Given the description of an element on the screen output the (x, y) to click on. 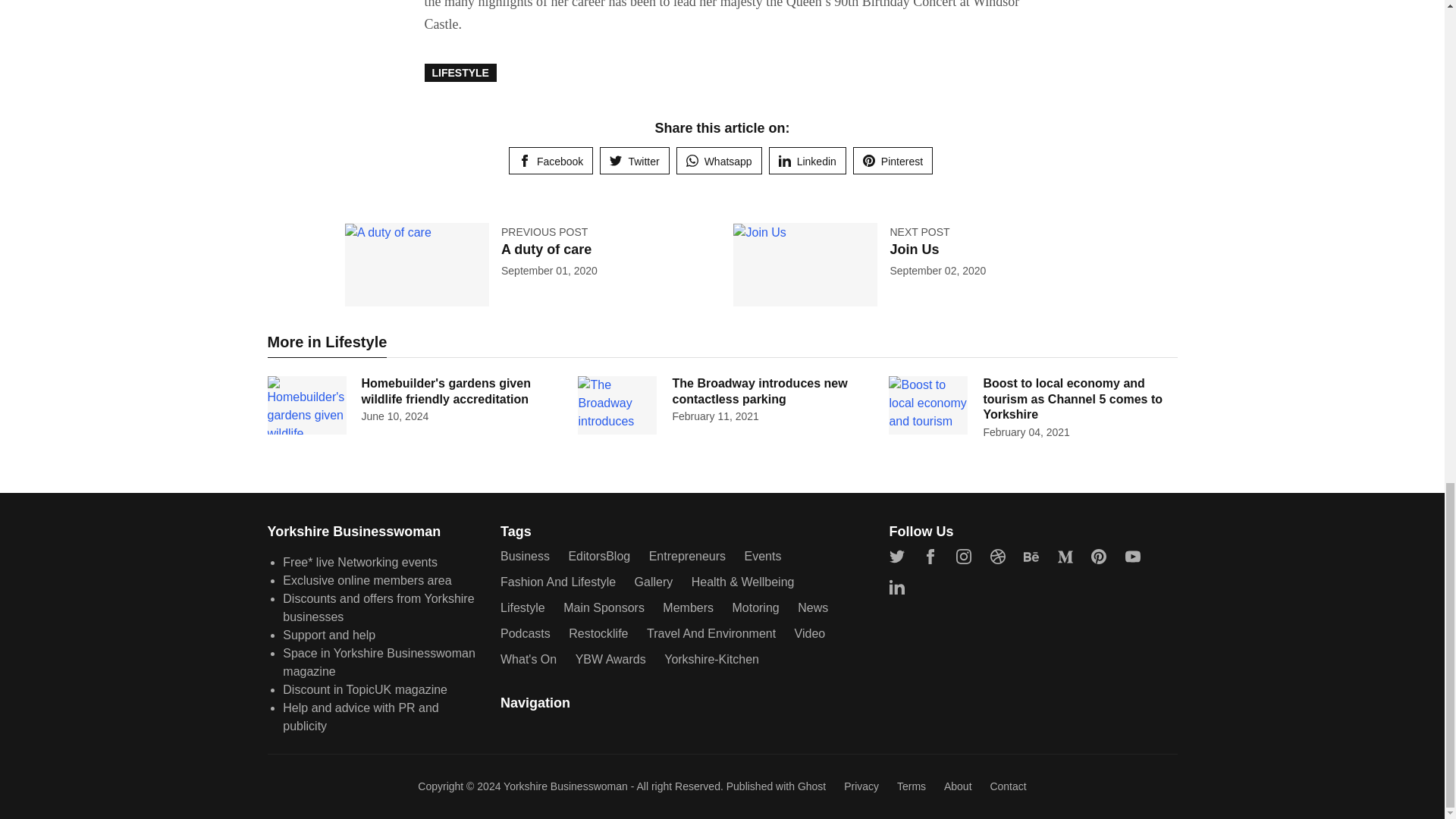
Twitter (633, 160)
10 June, 2024 (394, 416)
LIFESTYLE (460, 72)
Pinterest (893, 160)
Share on Facebook (550, 160)
Homebuilder's gardens given wildlife friendly accreditation (445, 390)
Facebook (550, 160)
The Broadway introduces new contactless parking (759, 390)
Linkedin (806, 160)
Share on Whatsapp (719, 160)
